Given the description of an element on the screen output the (x, y) to click on. 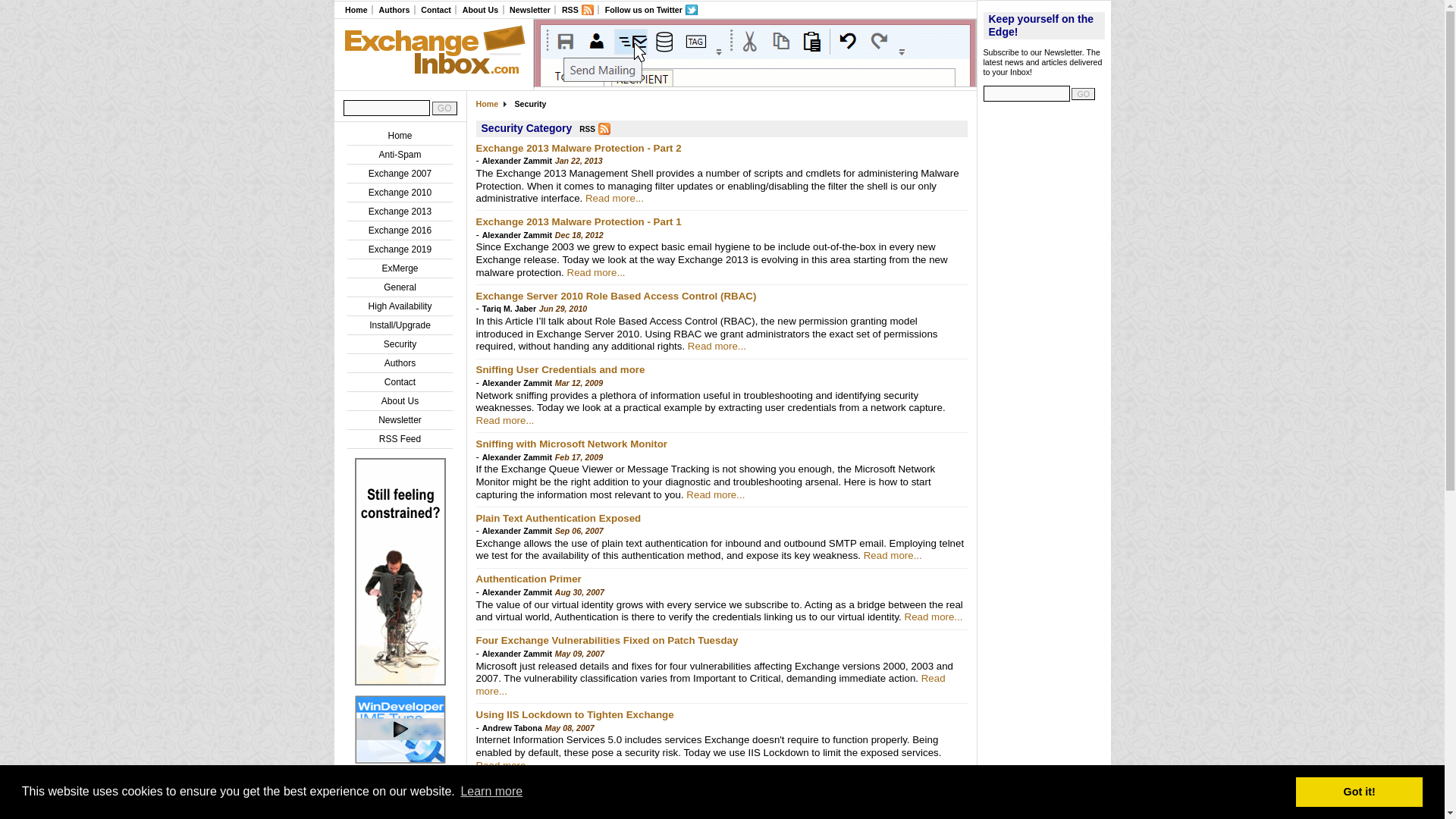
Authors (399, 362)
Exchange 2010 (399, 192)
Authors (393, 9)
Security (400, 344)
Follow us on Twitter (651, 9)
Home (356, 9)
Contact (435, 9)
RSS Feed (399, 439)
GO (444, 108)
WinDeveloper IMF Tune (400, 682)
